Given the description of an element on the screen output the (x, y) to click on. 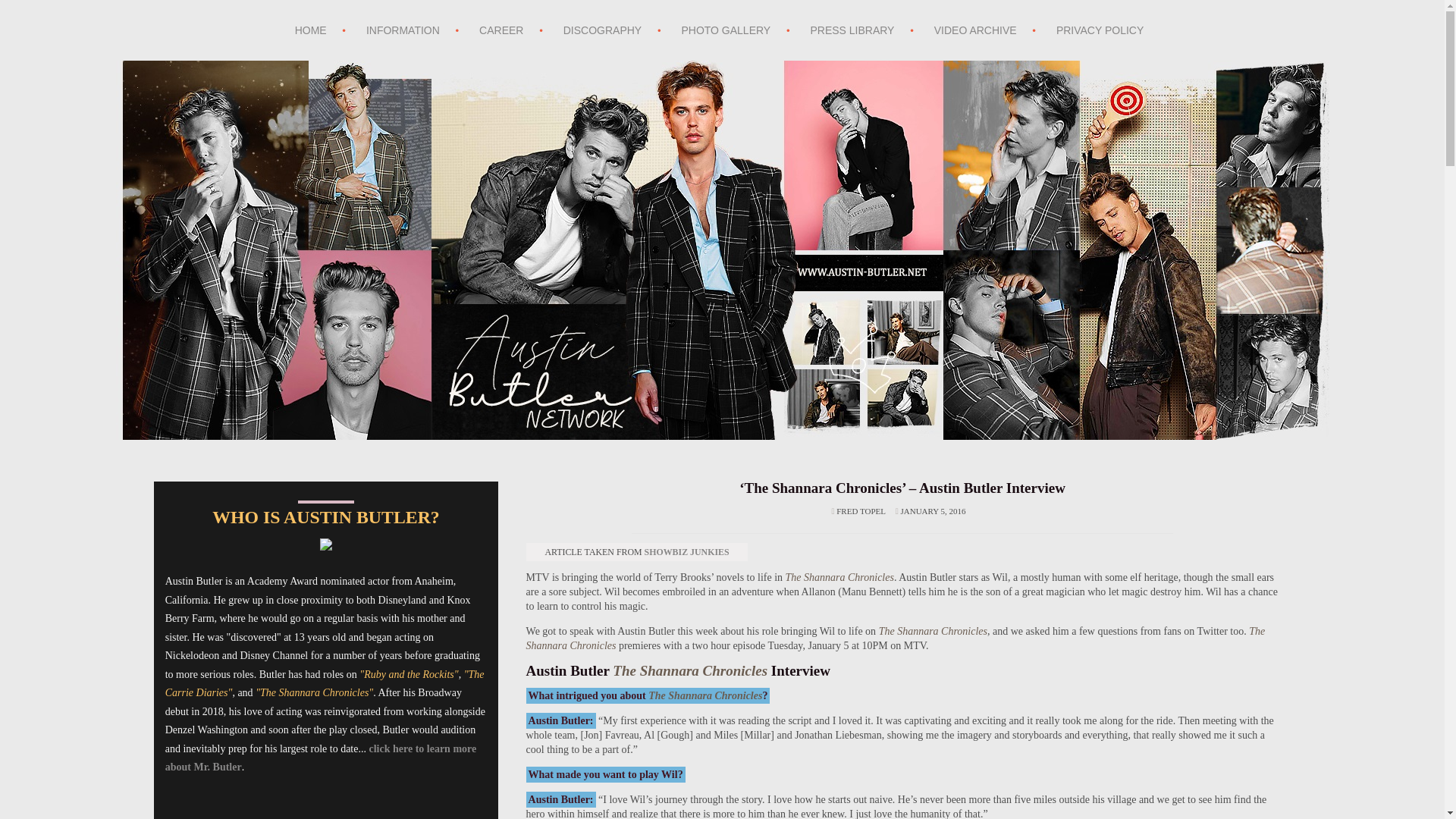
PRESS LIBRARY (852, 29)
PHOTO GALLERY (725, 29)
DISCOGRAPHY (601, 29)
VIDEO ARCHIVE (975, 29)
INFORMATION (403, 29)
CAREER (501, 29)
HOME (310, 29)
click here to learn more about Mr. Butler (321, 757)
PRIVACY POLICY (1099, 29)
